Given the description of an element on the screen output the (x, y) to click on. 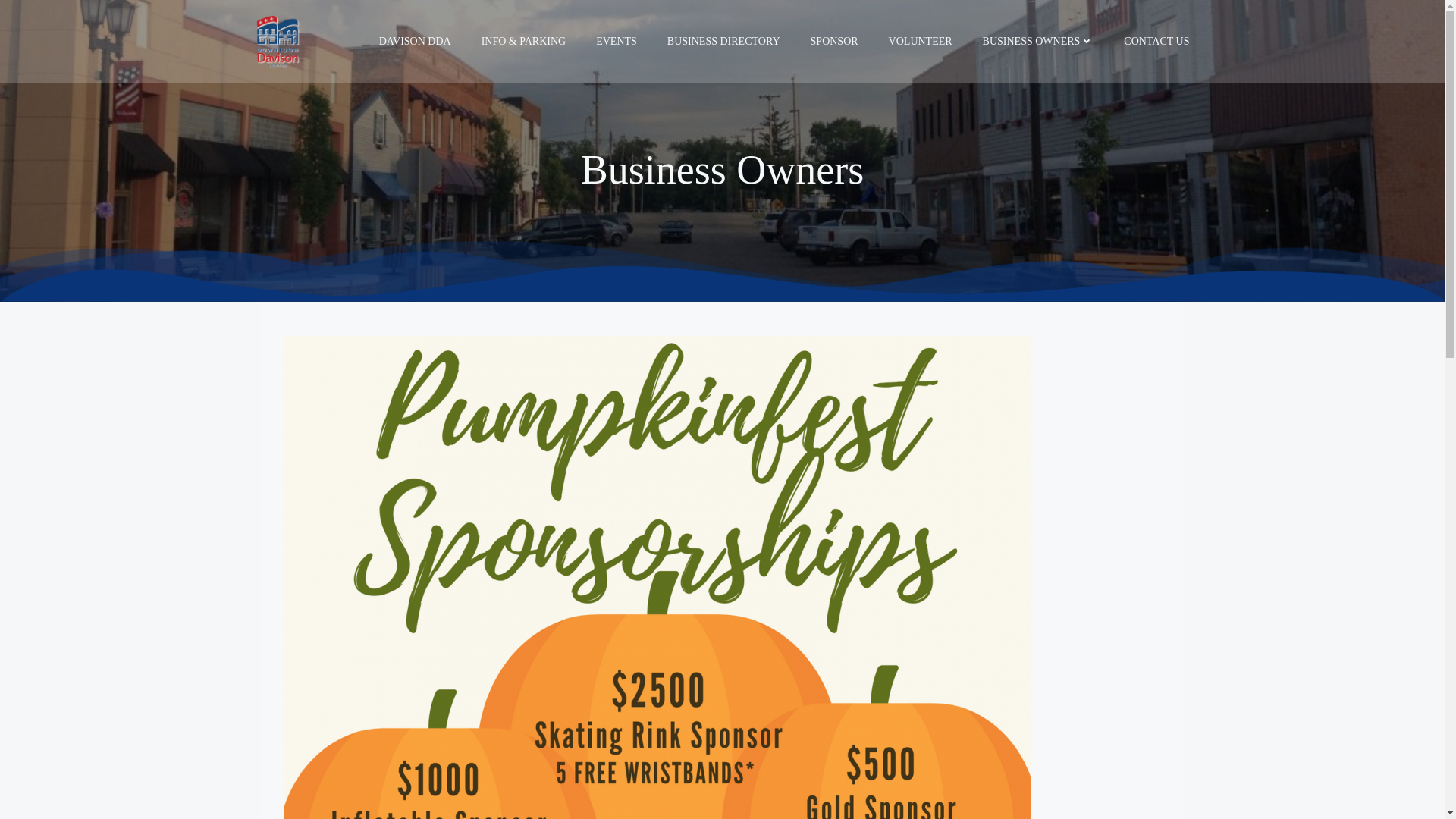
EVENTS (616, 41)
CONTACT US (1156, 41)
BUSINESS OWNERS (1038, 41)
DAVISON DDA (414, 41)
BUSINESS DIRECTORY (723, 41)
SPONSOR (834, 41)
VOLUNTEER (920, 41)
